Given the description of an element on the screen output the (x, y) to click on. 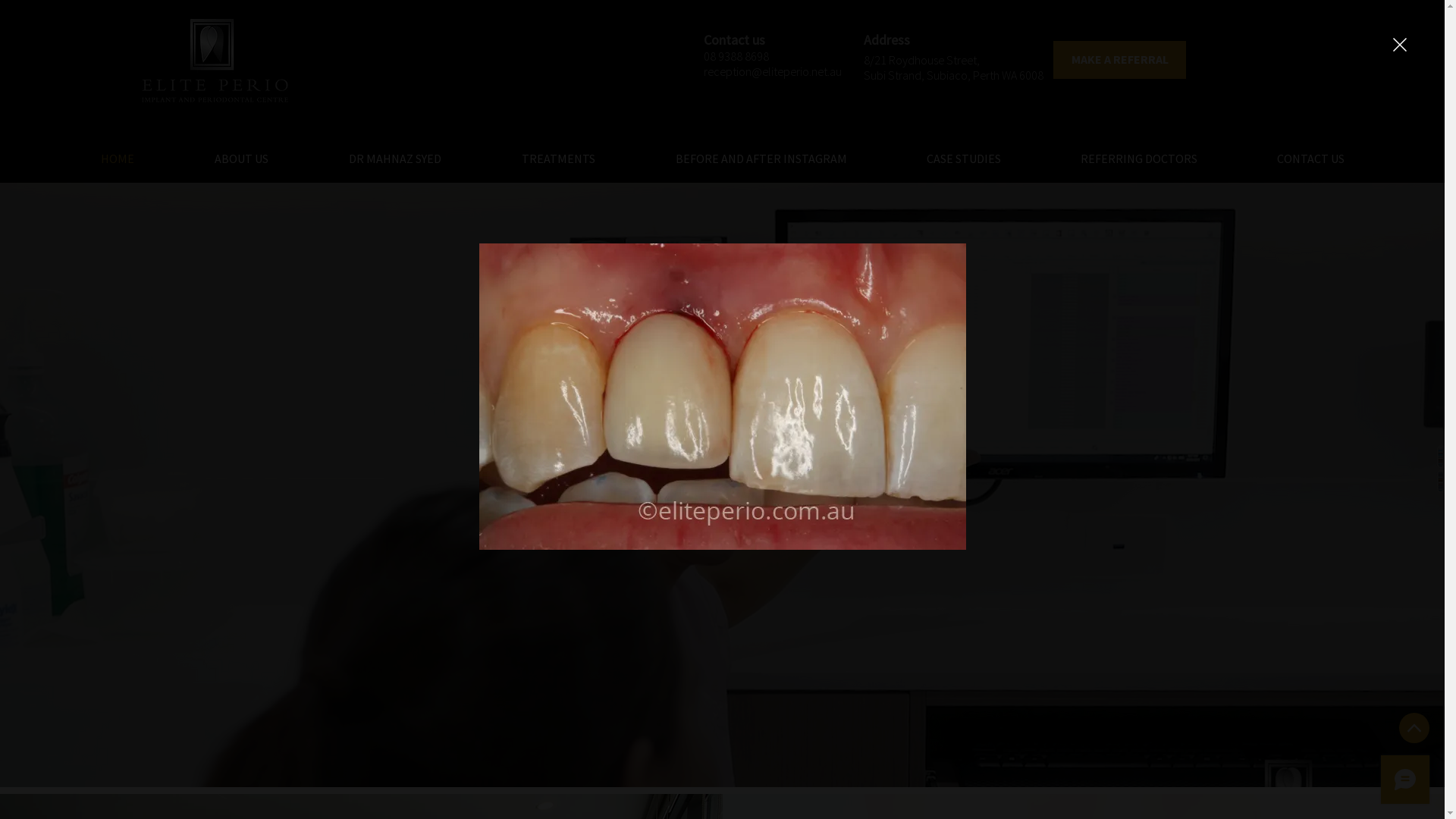
DR MAHNAZ SYED Element type: text (394, 158)
Play Video Element type: text (722, 518)
HOME Element type: text (117, 158)
BEFORE AND AFTER INSTAGRAM Element type: text (760, 158)
08 9388 8698 Element type: text (735, 55)
MAKE A REFERRAL Element type: text (1119, 59)
Back To Top Element type: hover (1414, 727)
ABOUT US Element type: text (241, 158)
REFERRING DOCTORS Element type: text (1138, 158)
reception@eliteperio.net.au Element type: text (772, 70)
CASE STUDIES Element type: text (963, 158)
TREATMENTS Element type: text (558, 158)
CONTACT US Element type: text (1309, 158)
